Given the description of an element on the screen output the (x, y) to click on. 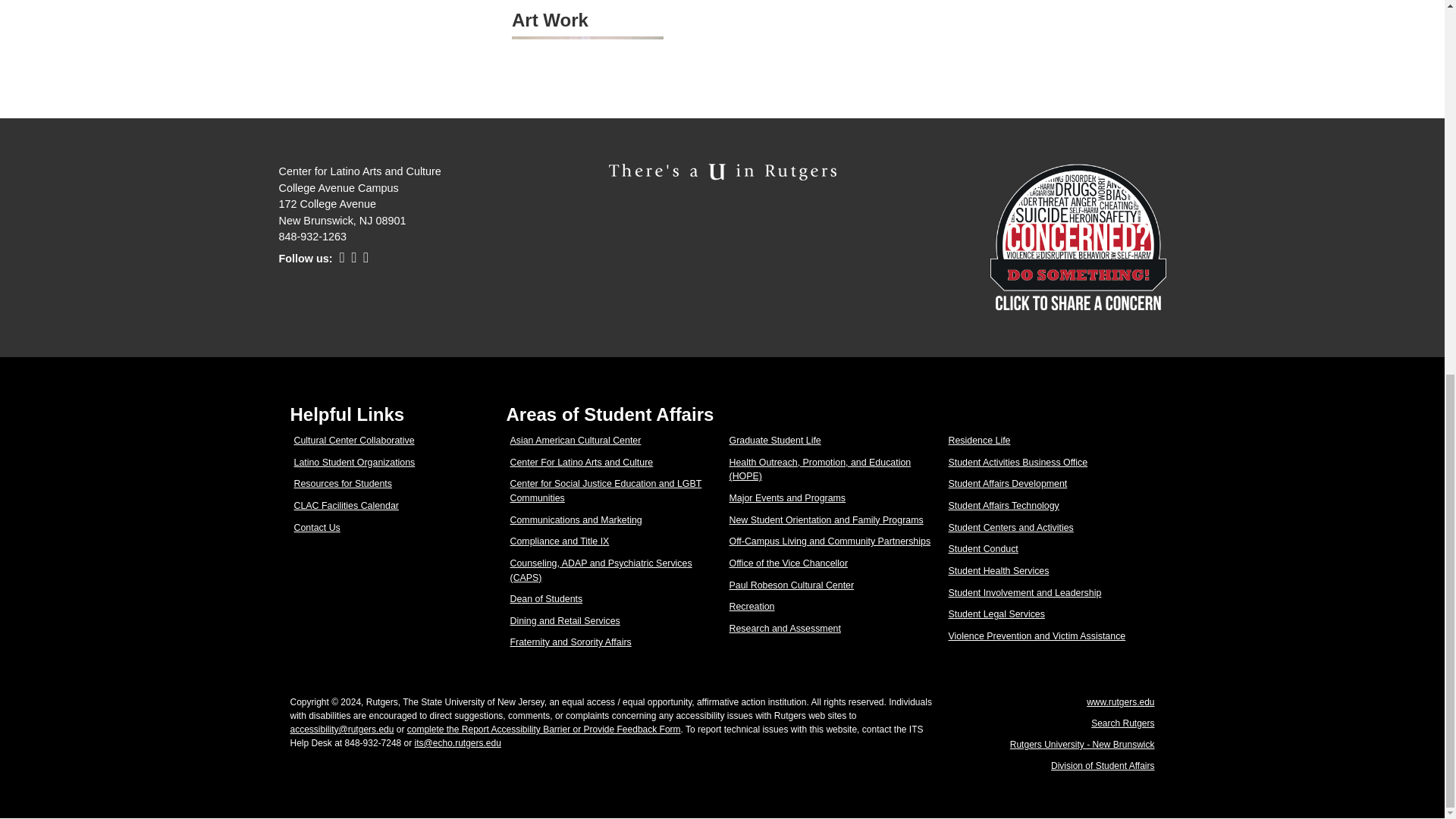
Private Landscapes, Public Territories, 1997 (587, 51)
